Given the description of an element on the screen output the (x, y) to click on. 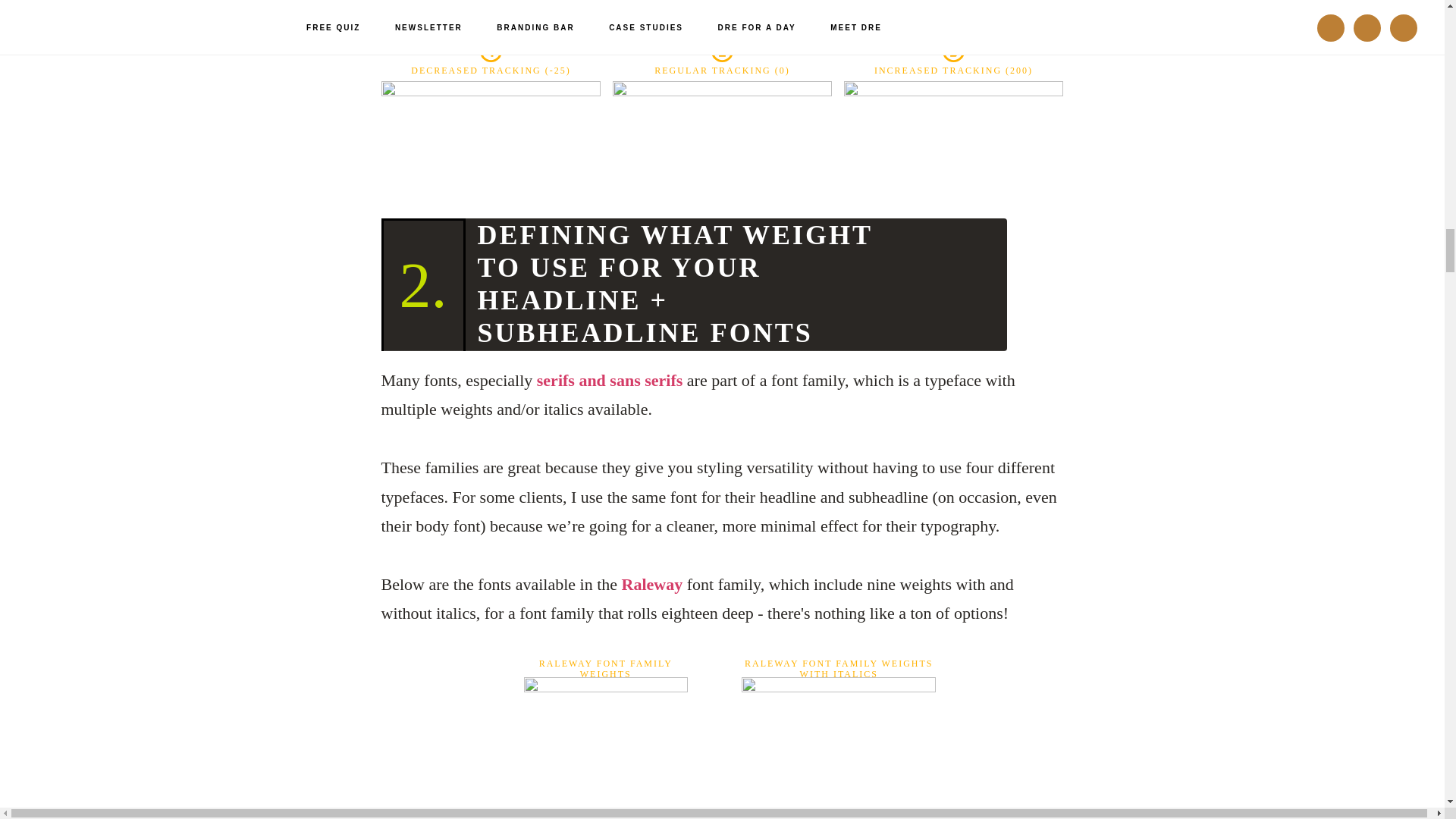
Brand Font Styling Examples-40 (952, 118)
Brand Font Styling Examples-39 (722, 118)
serifs and sans serifs (609, 380)
Raleway (651, 583)
Brand Font Styling Examples- decreased (489, 118)
Brand Font Styling Examples-41 (605, 745)
Brand Font Styling Examples-42 (838, 745)
